Given the description of an element on the screen output the (x, y) to click on. 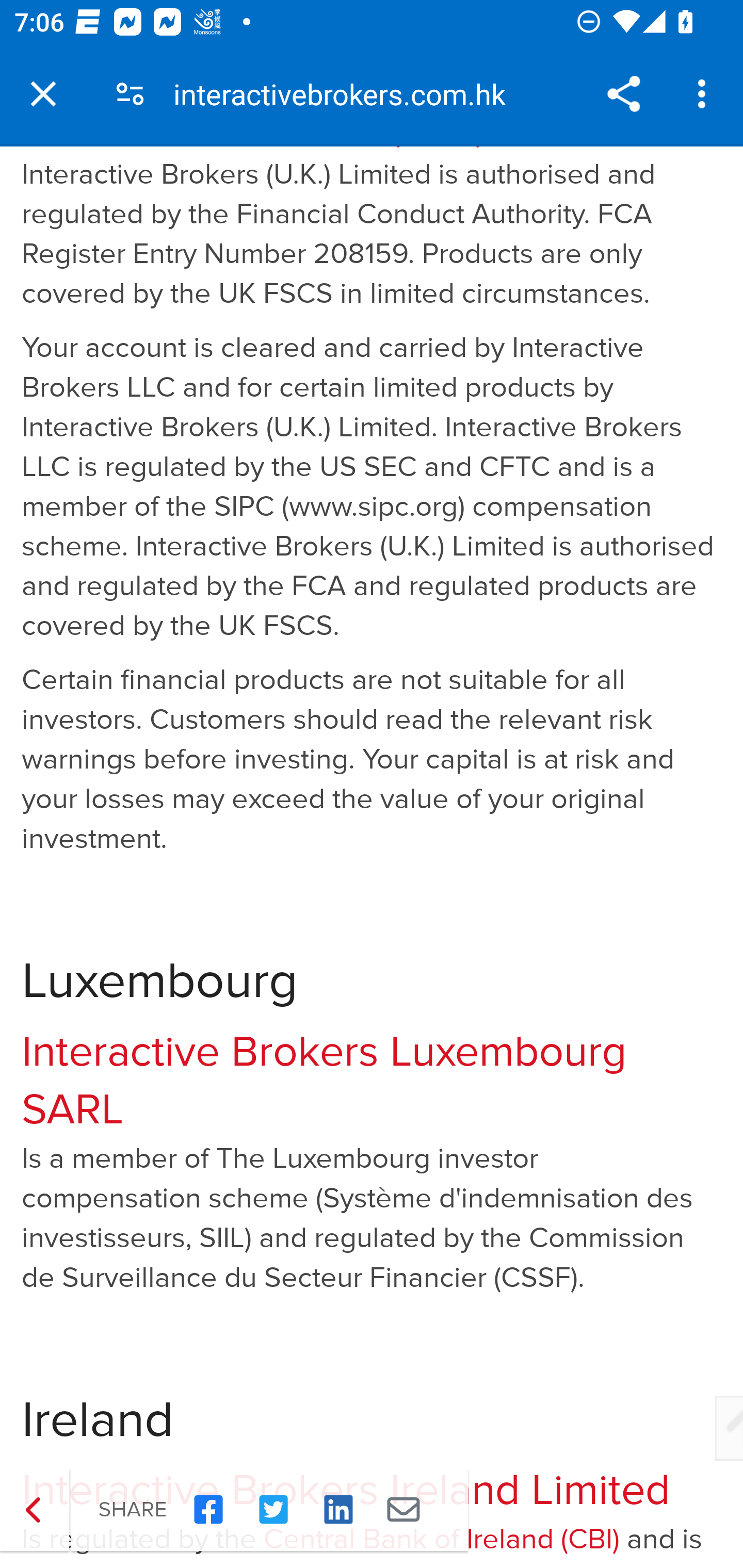
Close tab (43, 93)
Share (623, 93)
Customize and control Google Chrome (705, 93)
Connection is secure (129, 93)
interactivebrokers.com.hk (346, 93)
Interactive Brokers Luxembourg SARL (324, 1080)
Share on Facebook  (208, 1509)
Share on Twitter  (272, 1509)
Share on Linkedin  (338, 1509)
Share by Email  (403, 1509)
